Given the description of an element on the screen output the (x, y) to click on. 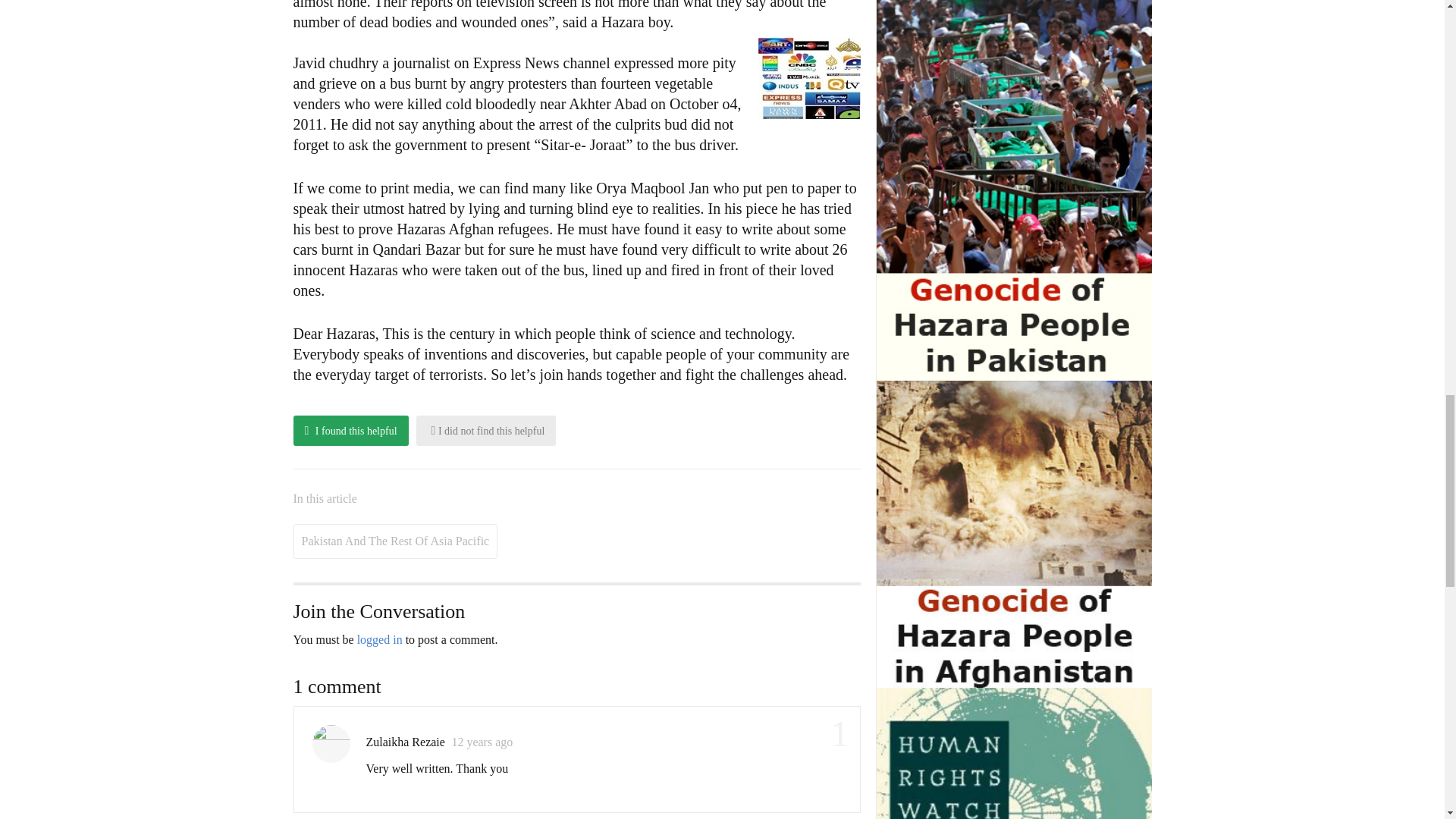
8 (809, 77)
